Given the description of an element on the screen output the (x, y) to click on. 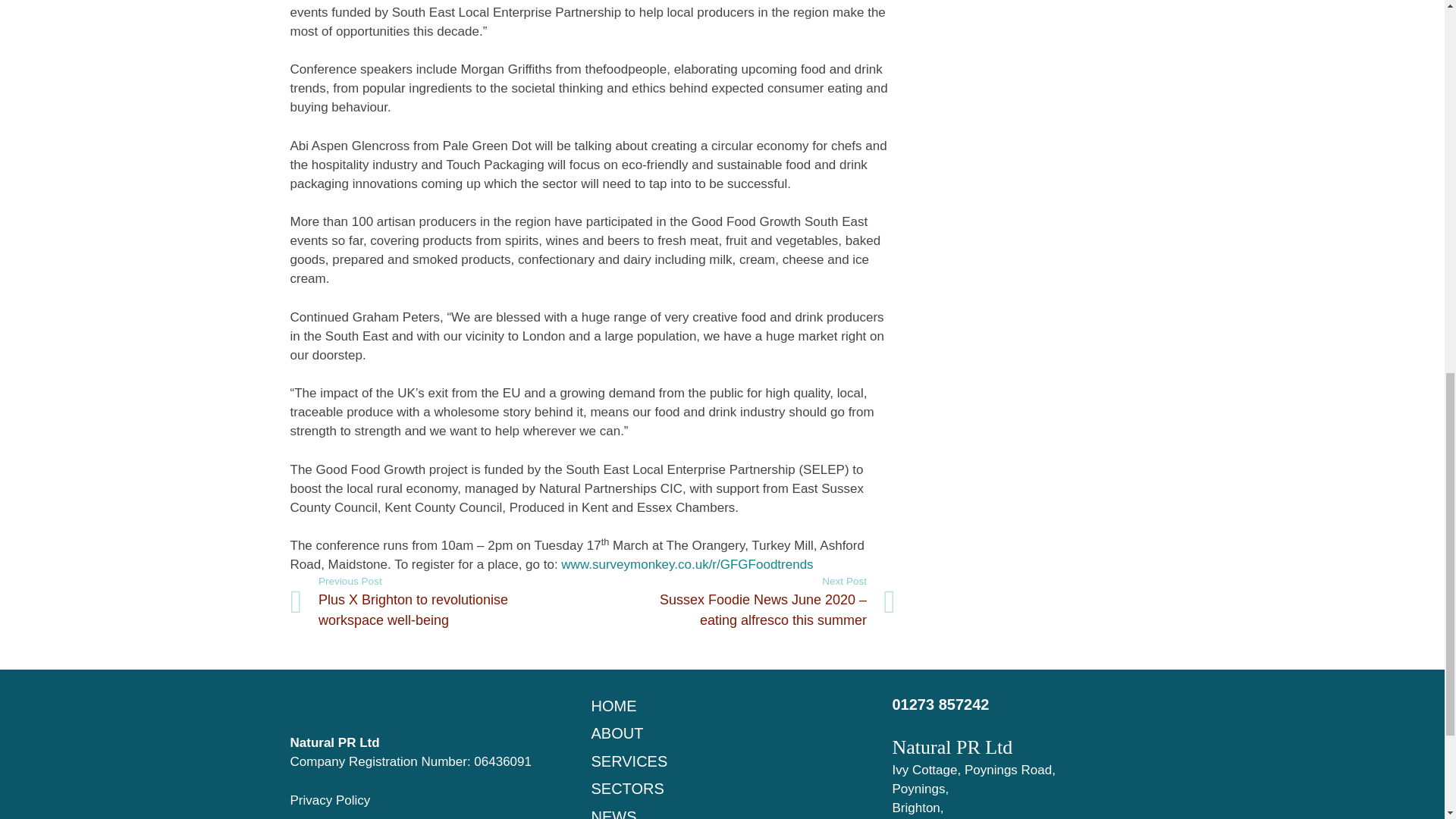
SERVICES (628, 760)
Plus X Brighton to revolutionise workspace well-being (440, 601)
HOME (613, 705)
Privacy Policy (329, 800)
SECTORS (627, 788)
Back to top (1413, 26)
NEWS (613, 813)
ABOUT (617, 733)
